Given the description of an element on the screen output the (x, y) to click on. 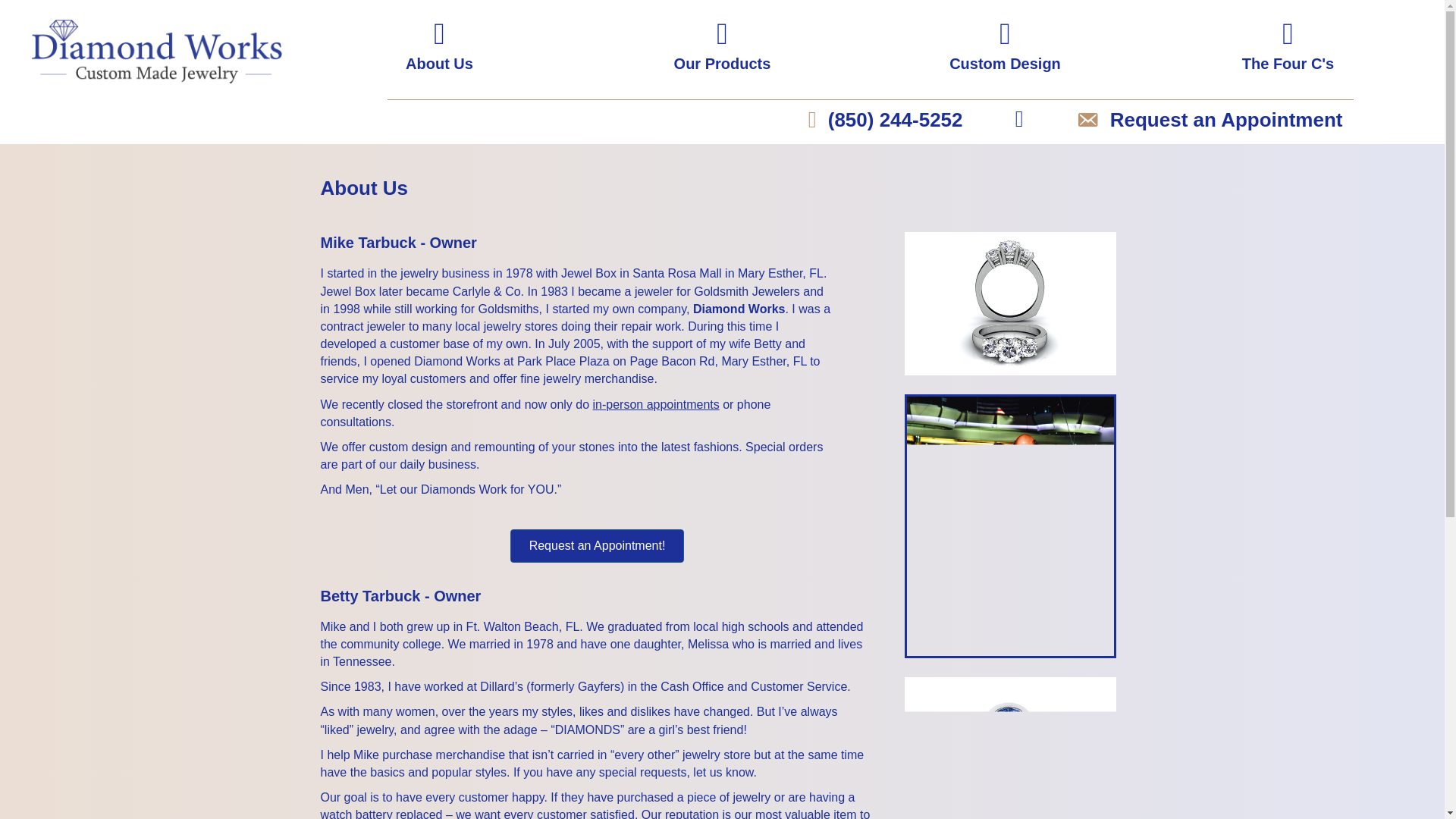
Our Products (722, 63)
in-person appointments (655, 404)
Request an Appointment! (597, 545)
About Us (439, 63)
Request an Appointment (1225, 120)
render-6-2000x2000-1 (1009, 303)
mr11 (1009, 747)
The Four C's (1287, 63)
Diamond Works Logo (156, 51)
Custom Design (1005, 63)
